Given the description of an element on the screen output the (x, y) to click on. 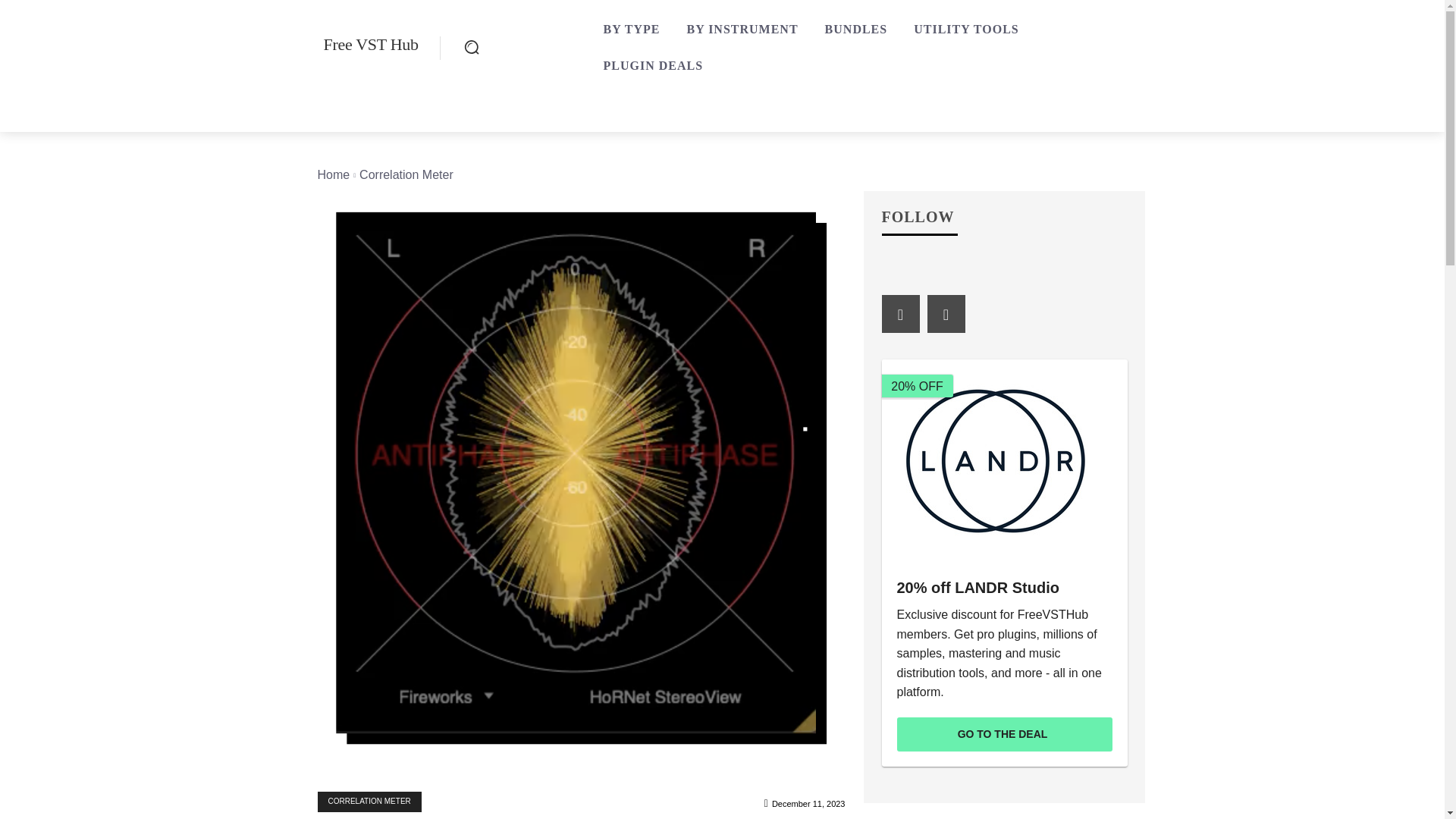
Facebook (899, 313)
Twitter (944, 313)
View all posts in Correlation Meter (405, 174)
Go to the deal (1004, 734)
